Given the description of an element on the screen output the (x, y) to click on. 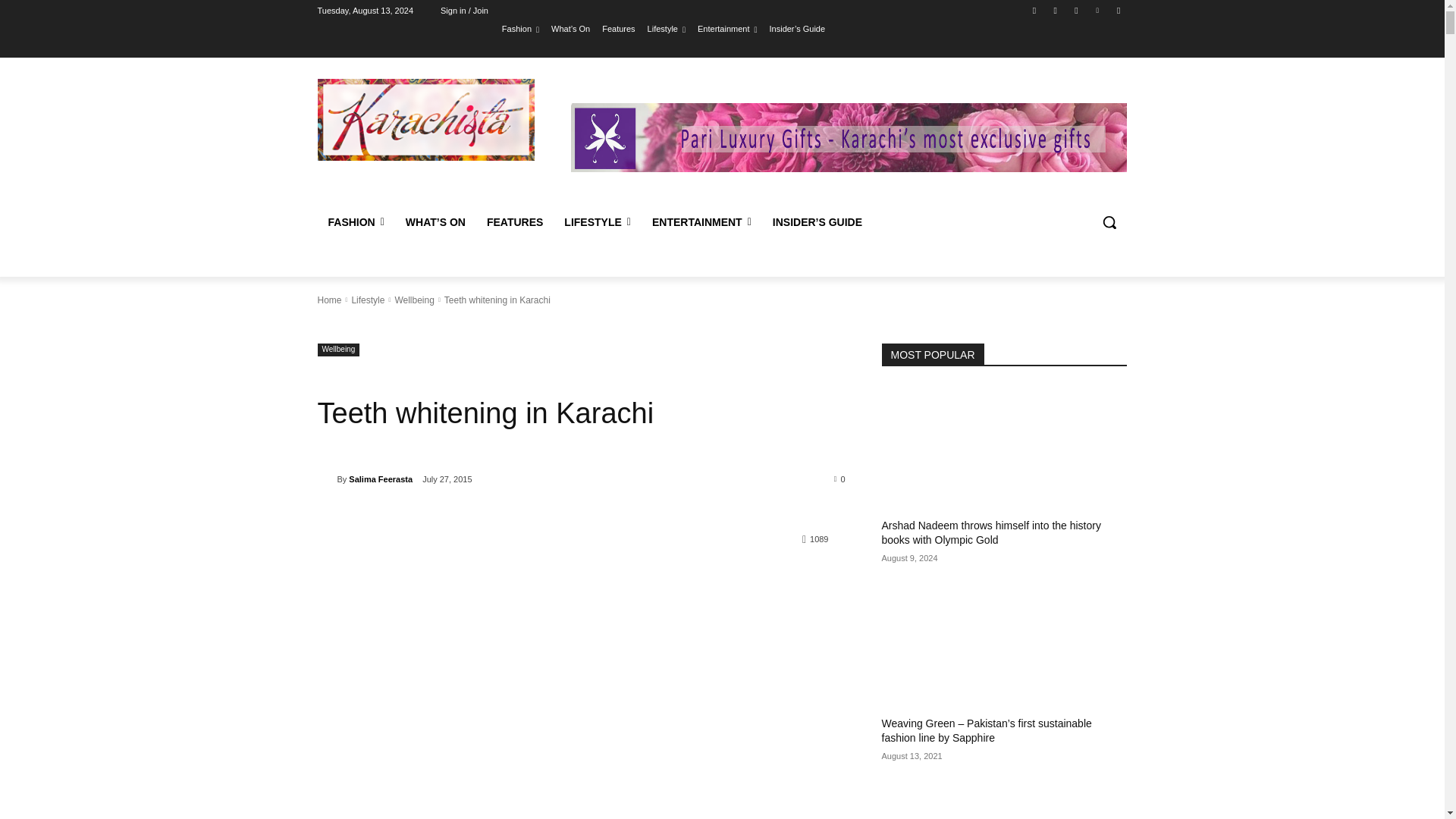
Twitter (1075, 9)
Youtube (1117, 9)
Salima Feerasta (326, 478)
Vimeo (1097, 9)
Fashion (520, 28)
Facebook (1034, 9)
Instagram (1055, 9)
View all posts in Wellbeing (413, 299)
View all posts in Lifestyle (367, 299)
